Given the description of an element on the screen output the (x, y) to click on. 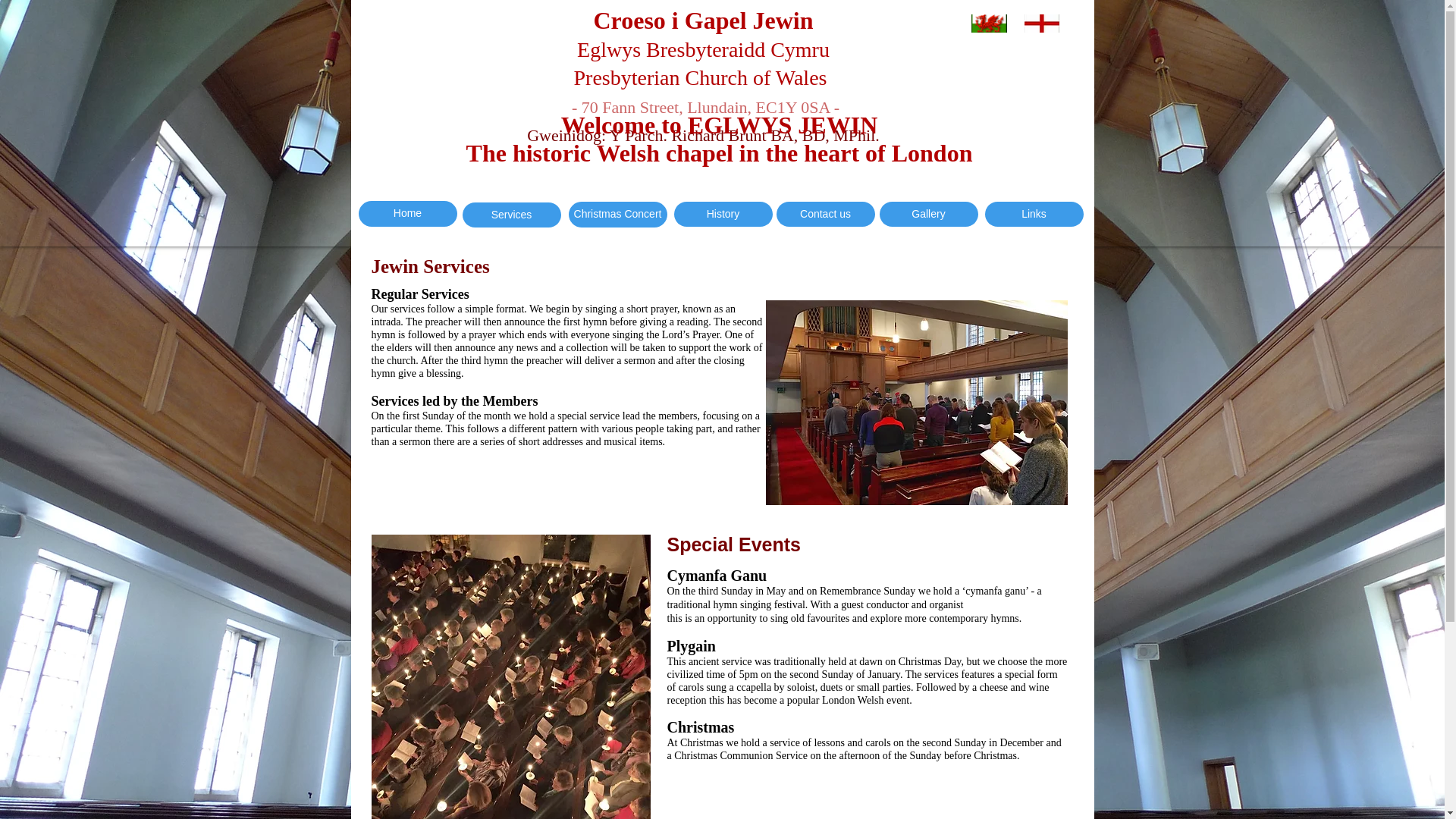
Services (511, 214)
Contact us (825, 213)
Links (1033, 213)
Home (407, 213)
Christmas Concert (617, 214)
Gallery (928, 213)
Facebook Like (387, 163)
History (721, 213)
